Given the description of an element on the screen output the (x, y) to click on. 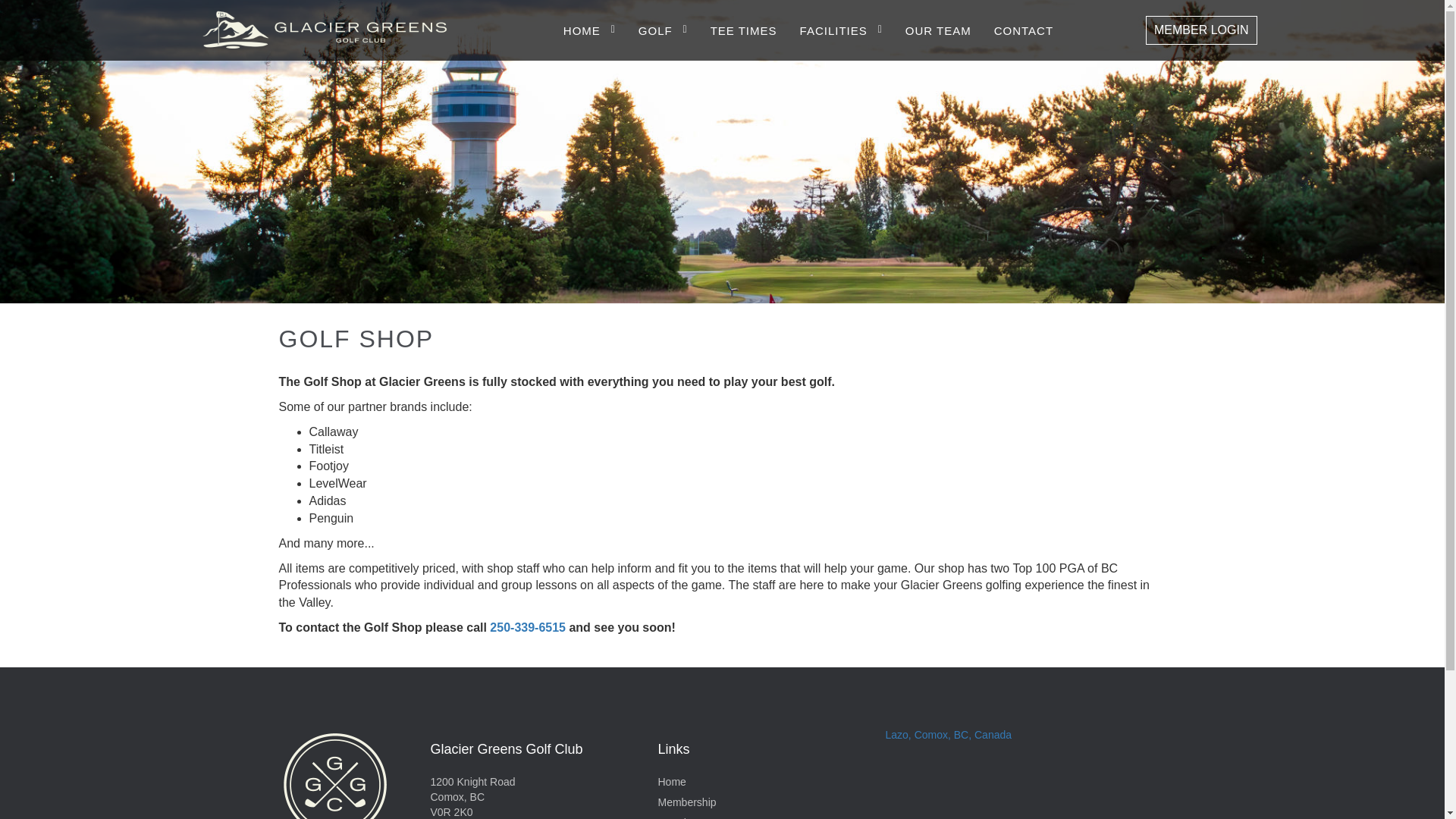
OUR TEAM (938, 30)
Home (671, 781)
Membership (687, 802)
HOME (589, 30)
CONTACT (1023, 30)
MEMBER LOGIN (1200, 30)
FACILITIES (840, 30)
Tee Times (682, 817)
250-339-6515 (527, 626)
Lazo, Comox, BC, Canada (948, 734)
GOLF (663, 30)
TEE TIMES (743, 30)
